Given the description of an element on the screen output the (x, y) to click on. 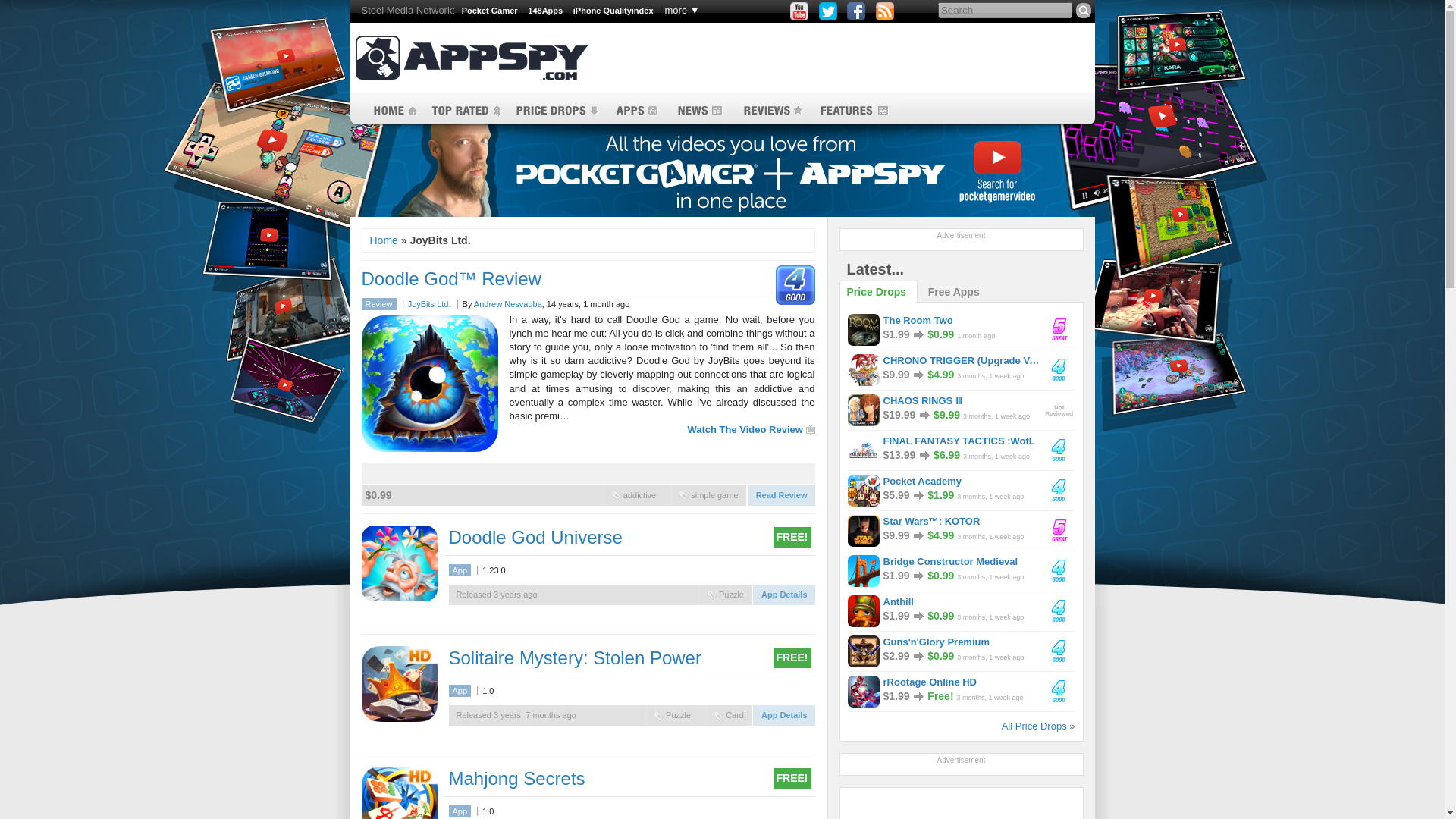
Doodle God Universe (535, 537)
Watch The Video Review (750, 429)
Doodle God Universe (398, 563)
Visit our YouTube channel (799, 11)
News and Updates (698, 110)
Top Rated Apps (464, 110)
4 (792, 284)
Apps On Sale (556, 110)
148Apps (544, 10)
